Given the description of an element on the screen output the (x, y) to click on. 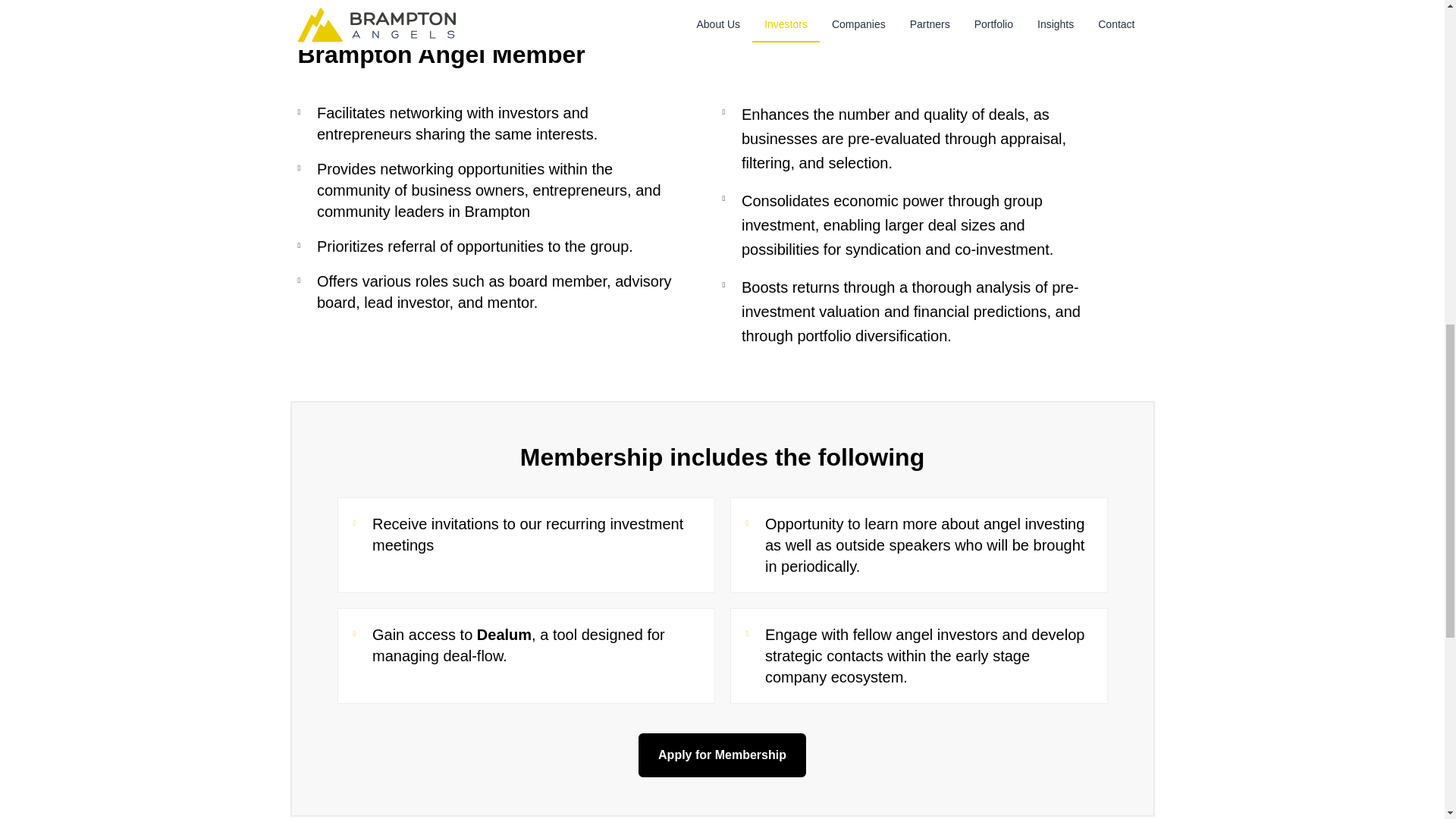
Apply for Membership (722, 755)
